Given the description of an element on the screen output the (x, y) to click on. 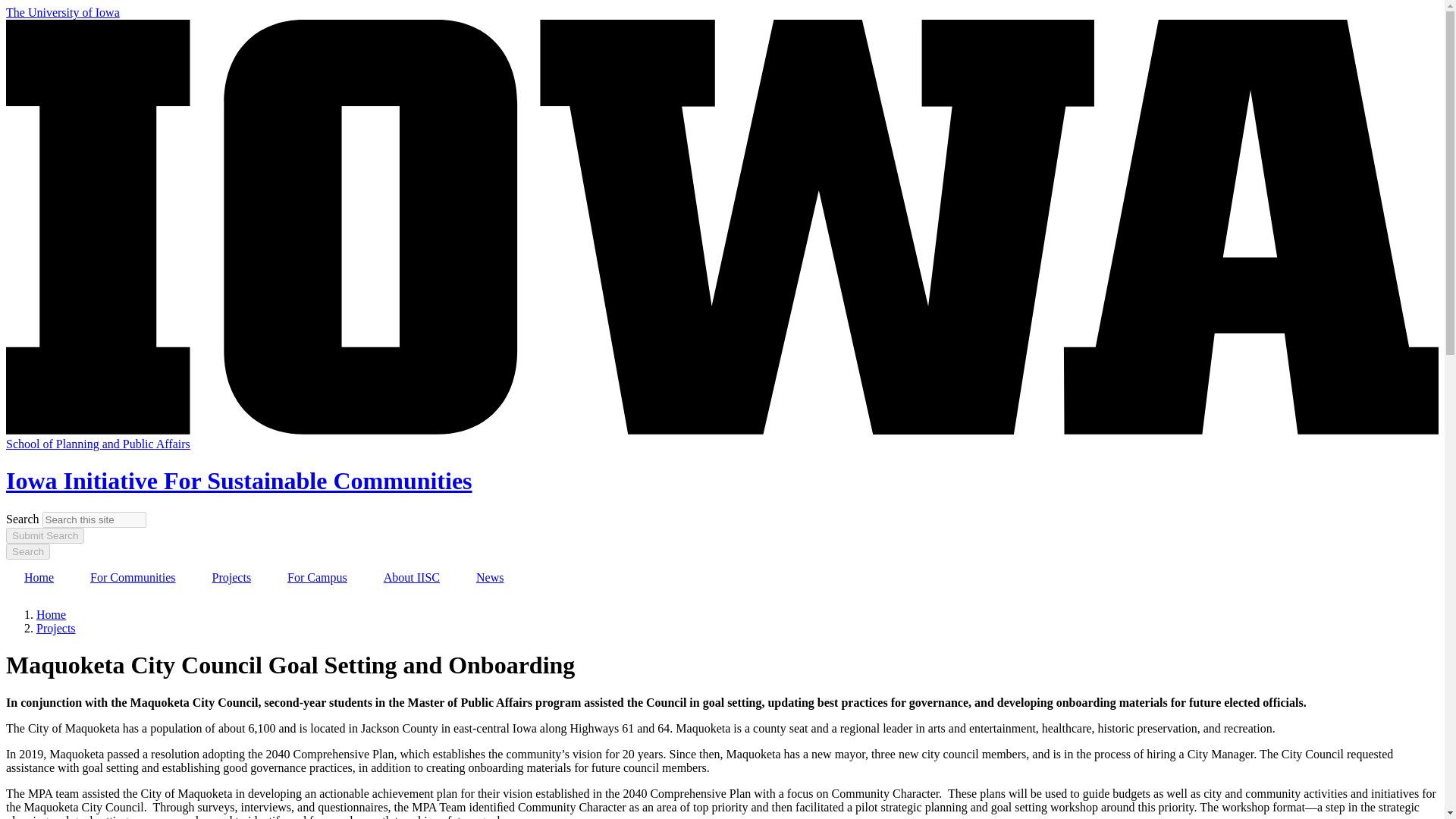
School of Planning and Public Affairs (97, 443)
Iowa Initiative For Sustainable Communities (238, 480)
Submit Search (44, 535)
Home (50, 614)
Home (38, 577)
News (489, 577)
Search (27, 551)
About IISC (411, 577)
For Campus (317, 577)
